Given the description of an element on the screen output the (x, y) to click on. 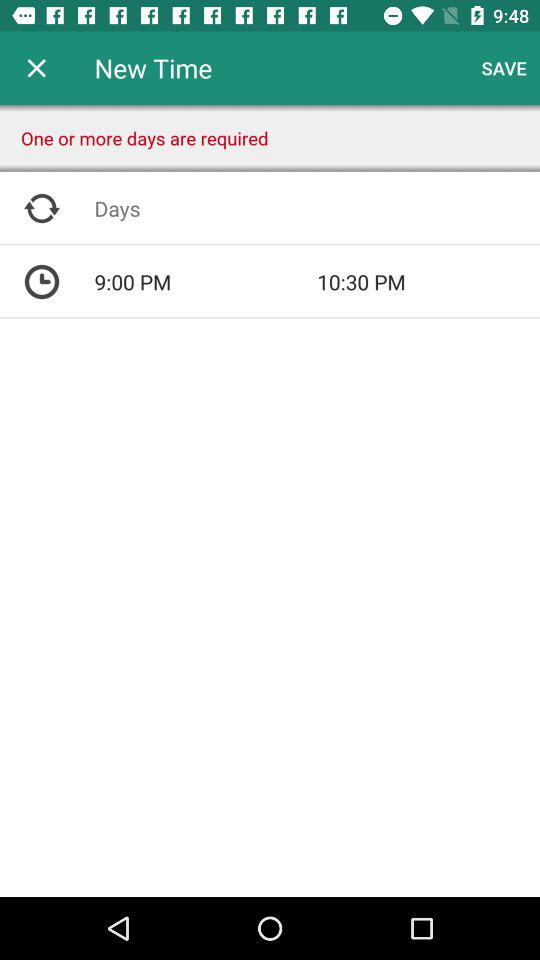
choose the 9:00 pm icon (205, 281)
